Given the description of an element on the screen output the (x, y) to click on. 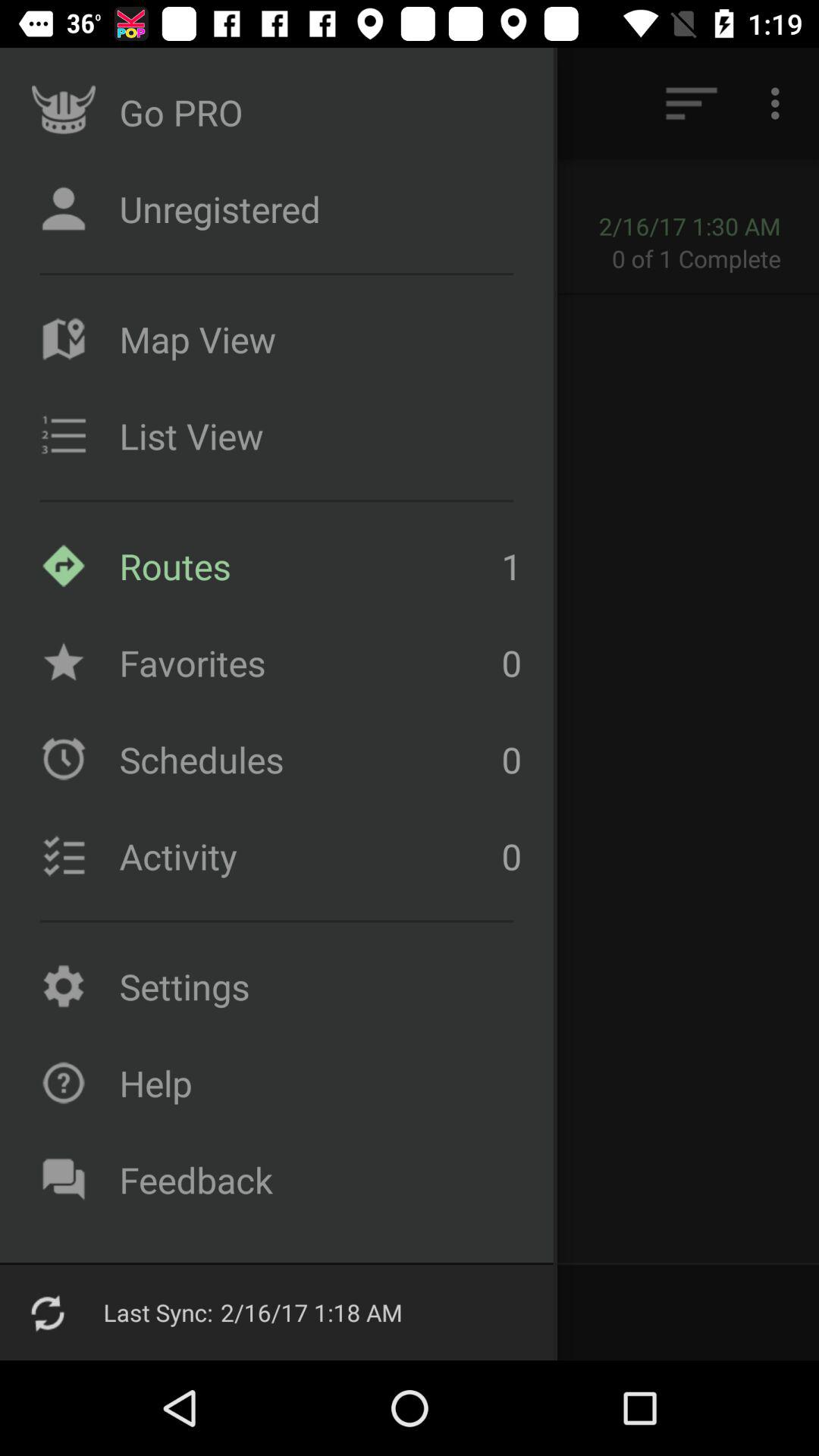
turn on icon to the left of the 0 (306, 855)
